Given the description of an element on the screen output the (x, y) to click on. 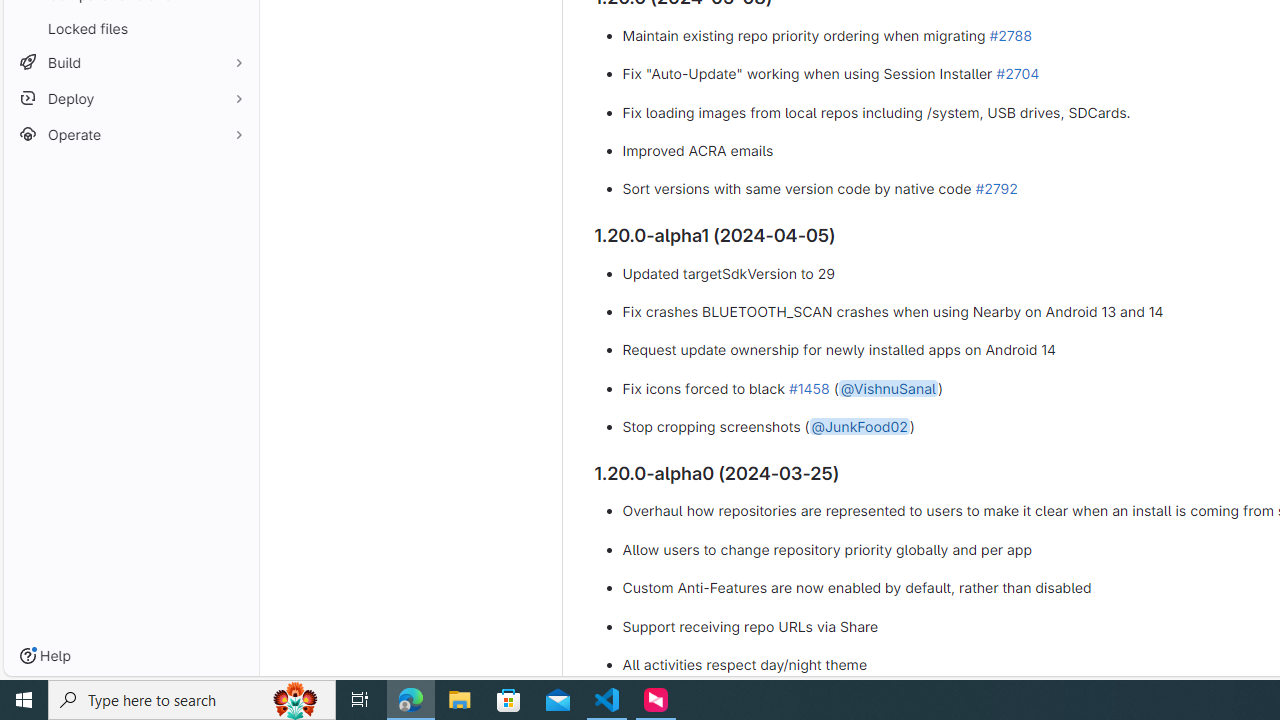
Build (130, 62)
Start (24, 699)
Operate (130, 134)
Type here to search (191, 699)
Operate (130, 134)
@VishnuSanal (888, 387)
Locked files (130, 28)
@JunkFood02 (859, 427)
Deploy (130, 98)
#1458 (808, 387)
Visual Studio Code - 1 running window (607, 699)
Task View (359, 699)
#2704 (1017, 73)
Microsoft Edge - 1 running window (411, 699)
